Given the description of an element on the screen output the (x, y) to click on. 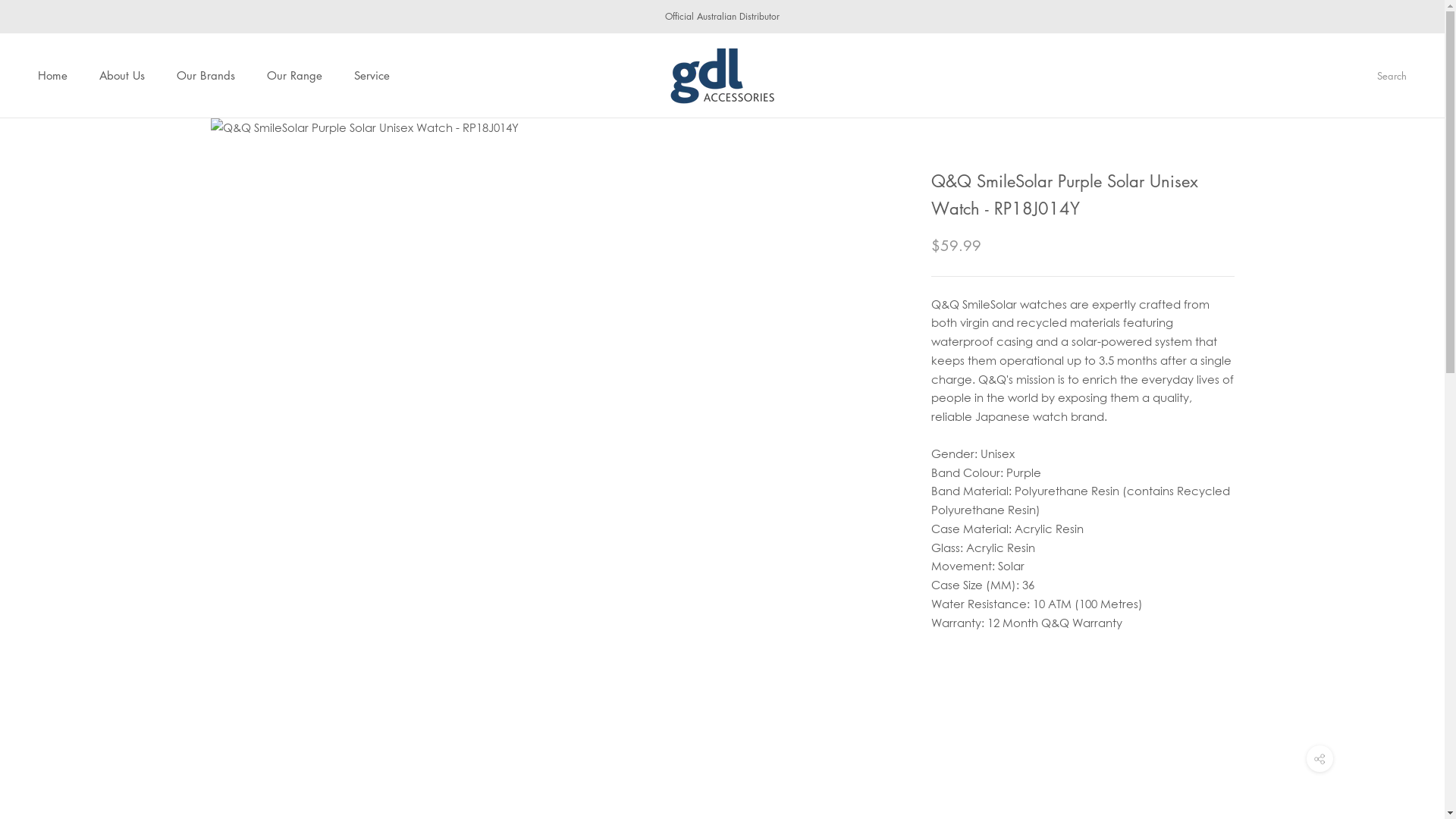
Our Brands
Our Brands Element type: text (205, 74)
Our Range Element type: text (294, 74)
Search Element type: text (1391, 75)
Official Australian Distributor Element type: text (722, 15)
Service
Service Element type: text (371, 74)
Home
Home Element type: text (52, 74)
About Us
About Us Element type: text (121, 74)
